Given the description of an element on the screen output the (x, y) to click on. 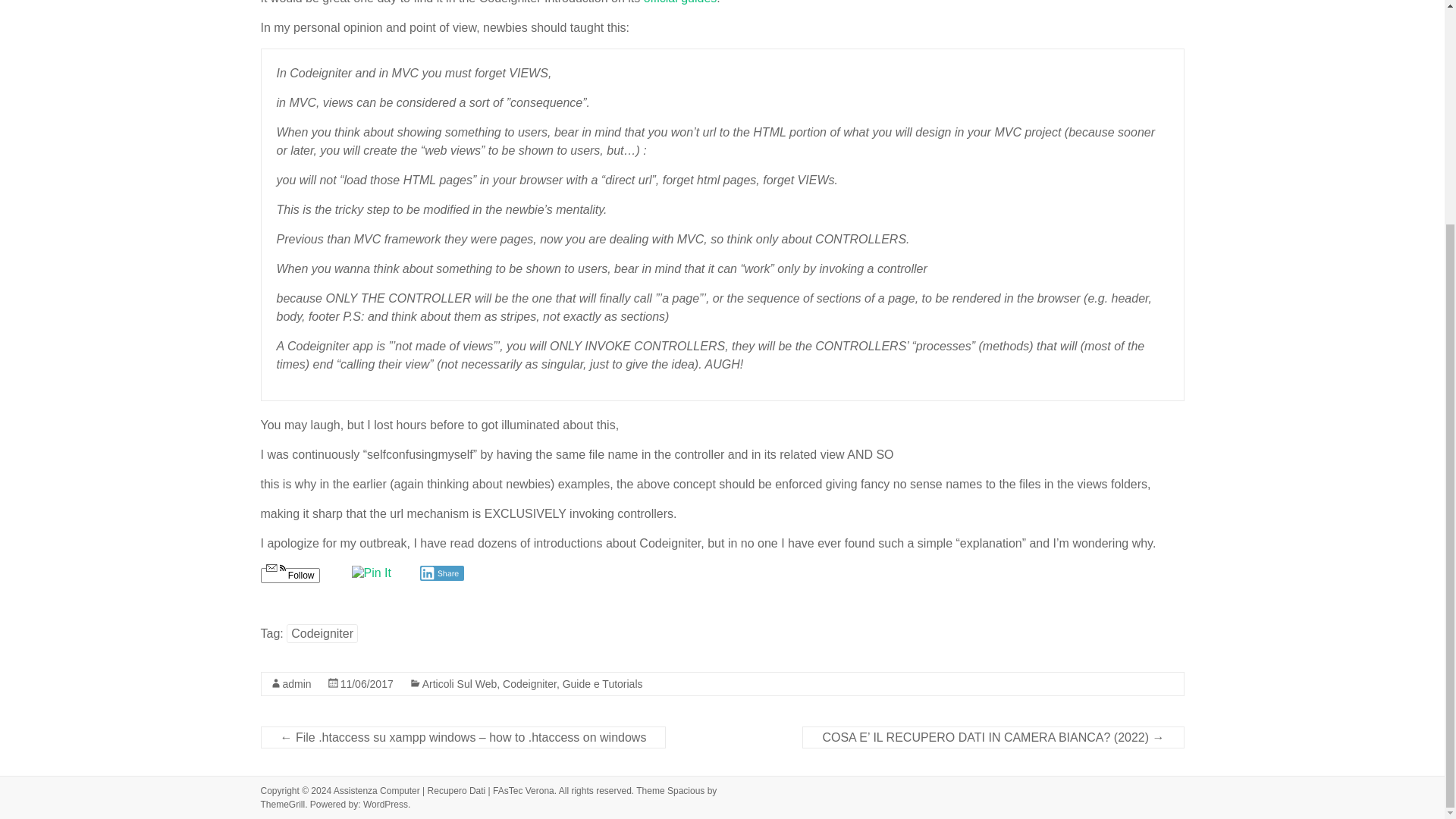
Share (442, 572)
Codeigniter (322, 633)
WordPress (384, 804)
Share on Tumblr (579, 572)
22:45 (366, 684)
admin (296, 684)
Email, RSS (274, 569)
Articoli Sul Web (459, 684)
Spacious (685, 790)
official guides (680, 2)
Follow (290, 575)
Share on Tumblr (579, 572)
